Given the description of an element on the screen output the (x, y) to click on. 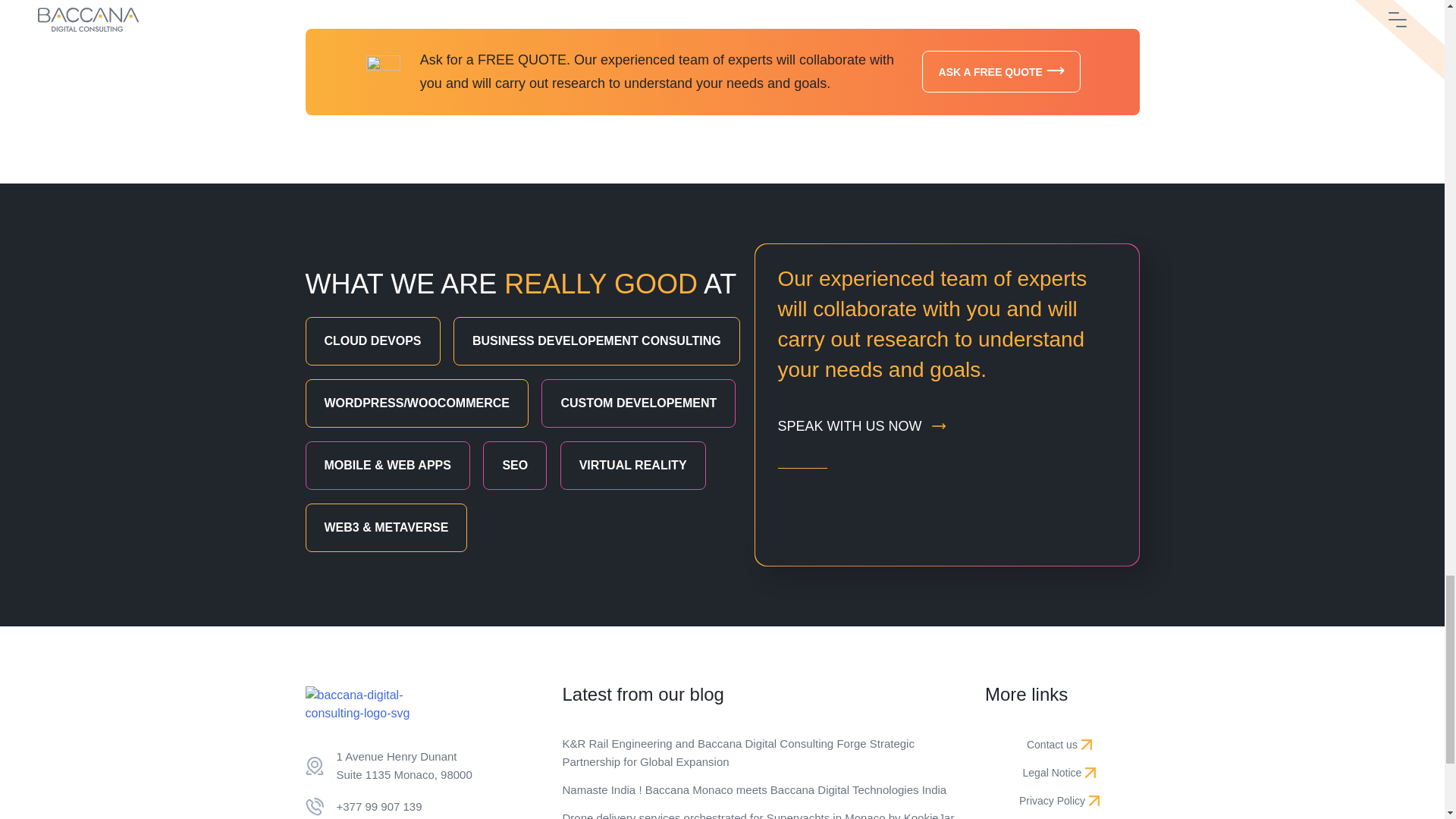
ASK A FREE QUOTE (421, 765)
VIRTUAL REALITY (1000, 71)
SEO (633, 465)
BUSINESS DEVELOPEMENT CONSULTING (515, 465)
SPEAK WITH US NOW (595, 340)
CLOUD DEVOPS (868, 425)
CUSTOM DEVELOPEMENT (371, 340)
